Given the description of an element on the screen output the (x, y) to click on. 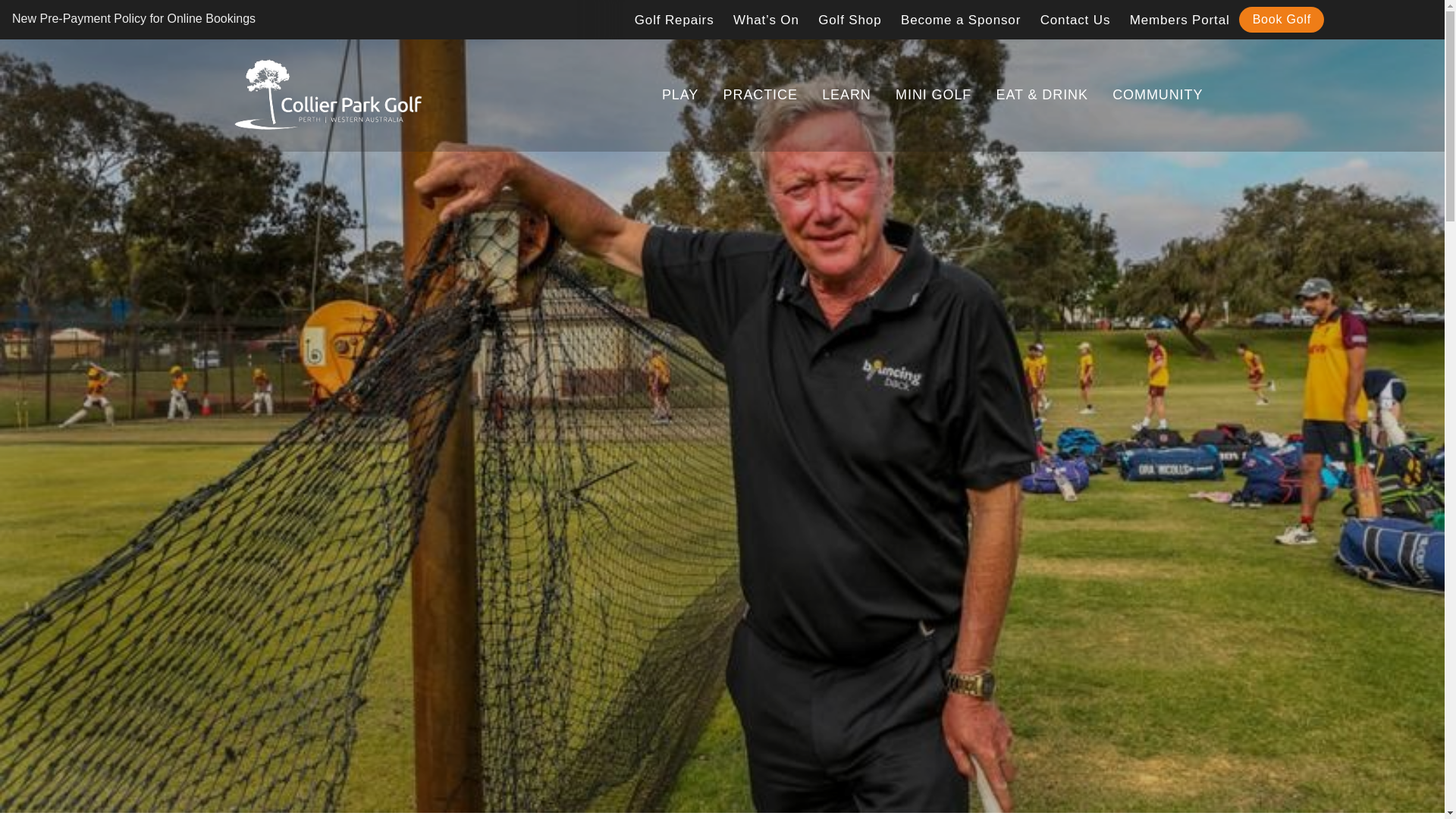
LEARN (846, 95)
MINI GOLF (933, 95)
PLAY (680, 95)
PRACTICE (759, 95)
